Given the description of an element on the screen output the (x, y) to click on. 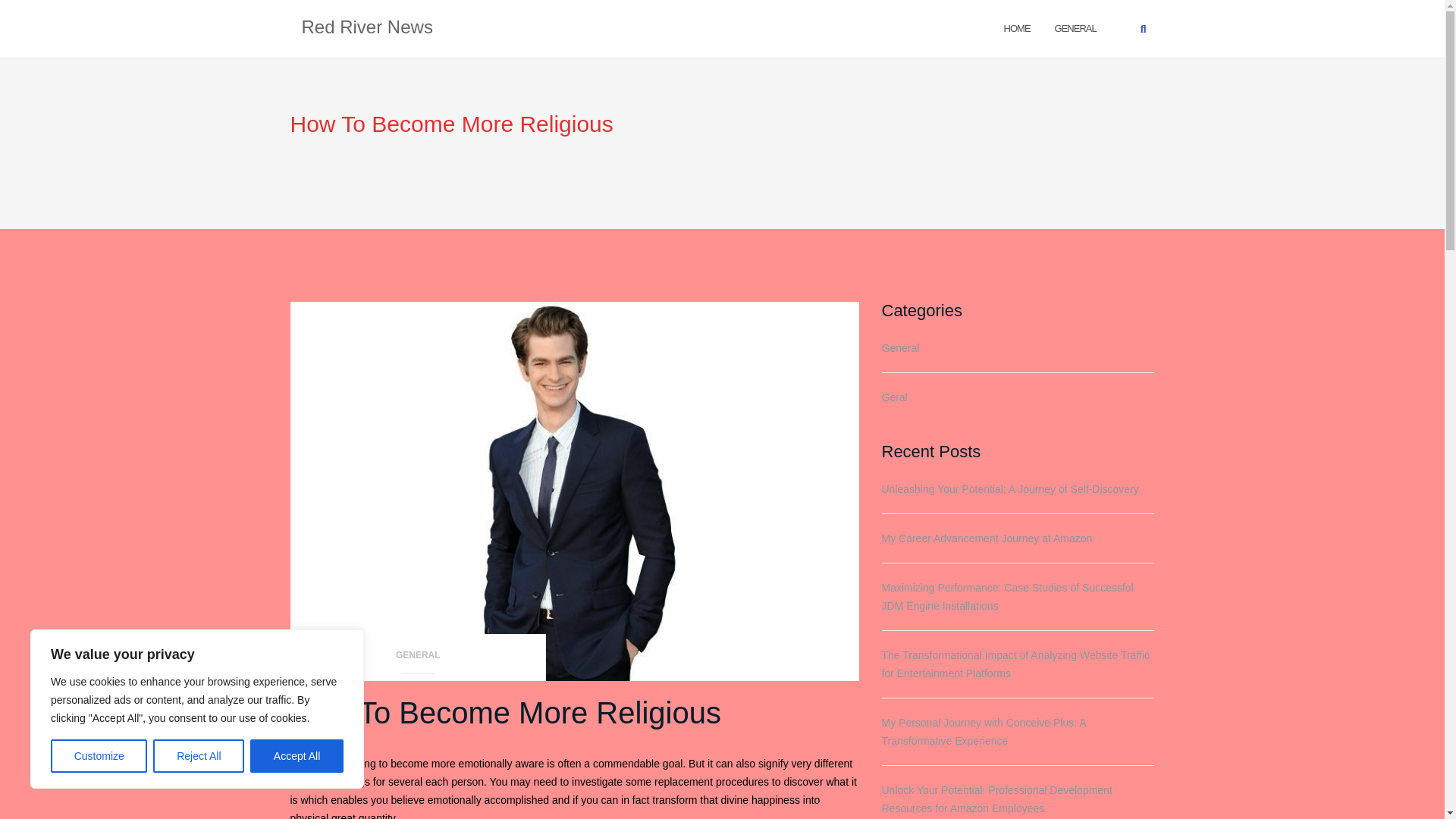
GENERAL (1075, 28)
Red River News (366, 28)
GENERAL (417, 660)
General (1075, 28)
Reject All (198, 756)
How To Become More Religious (504, 712)
Customize (98, 756)
Accept All (296, 756)
